Given the description of an element on the screen output the (x, y) to click on. 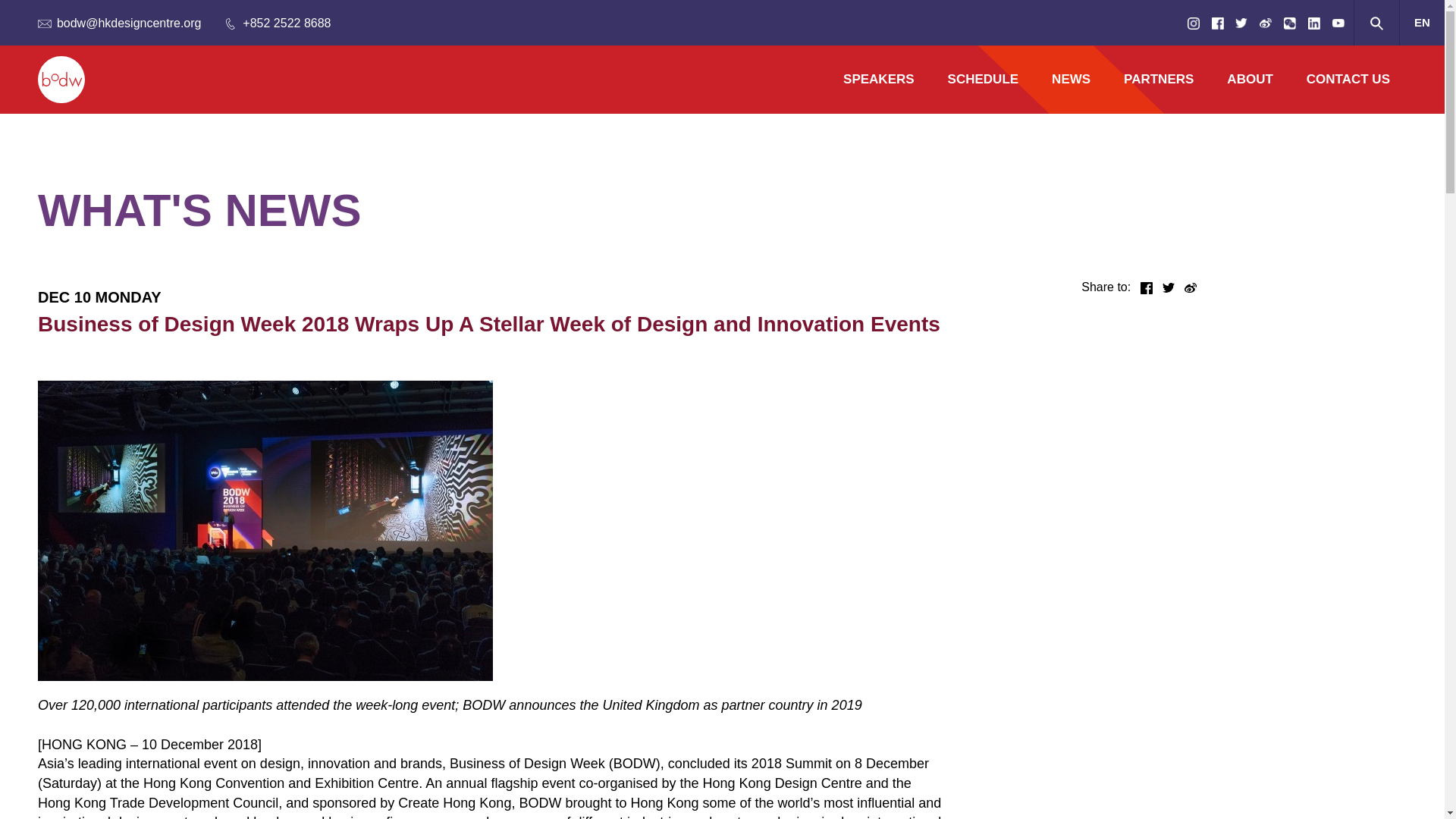
ABOUT (1248, 79)
PARTNERS (1157, 79)
EN (1421, 21)
SCHEDULE (983, 79)
SPEAKERS (879, 79)
CONTACT US (1348, 79)
NEWS (1070, 79)
